Given the description of an element on the screen output the (x, y) to click on. 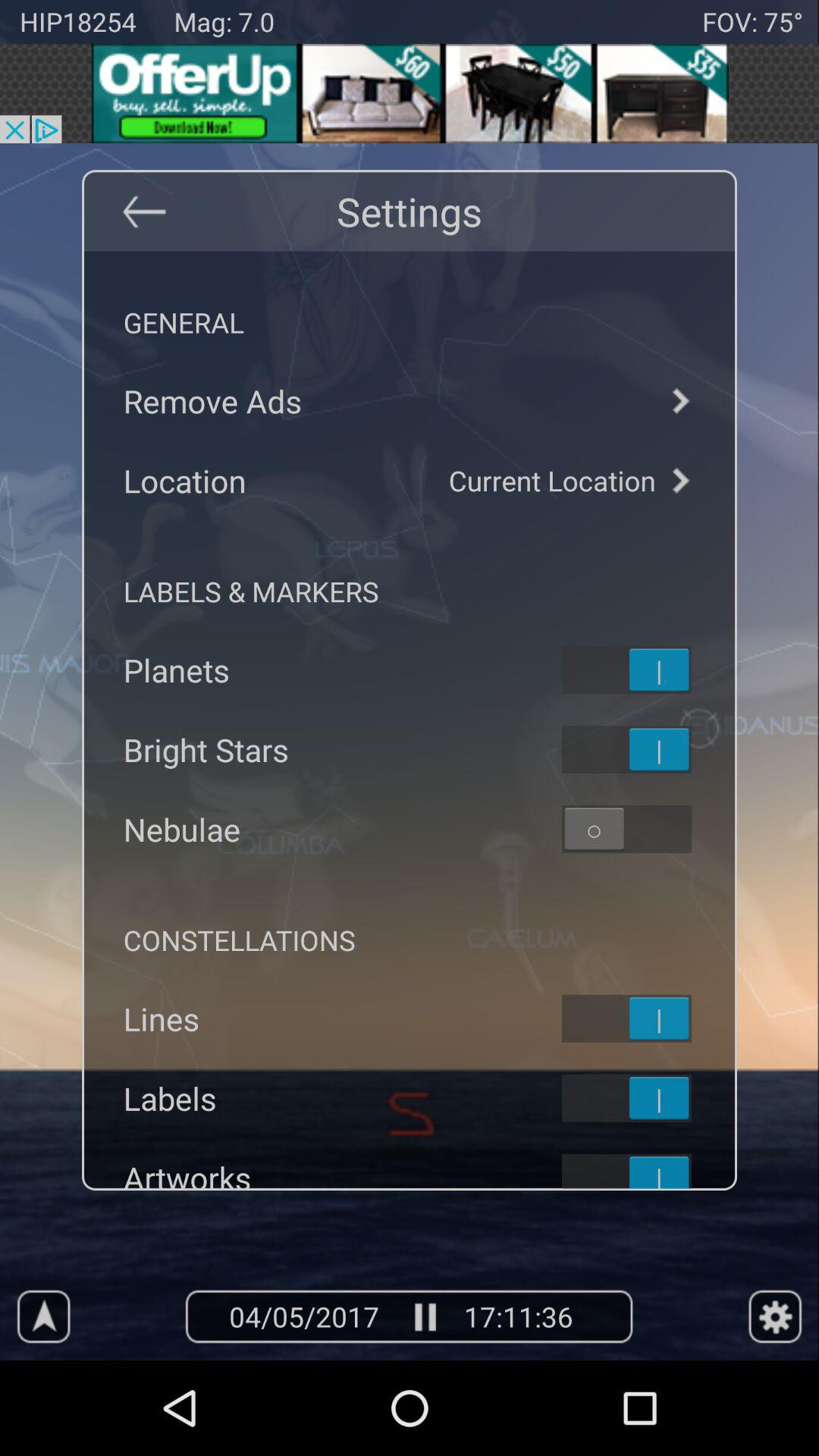
remove advertisements option (679, 400)
